Given the description of an element on the screen output the (x, y) to click on. 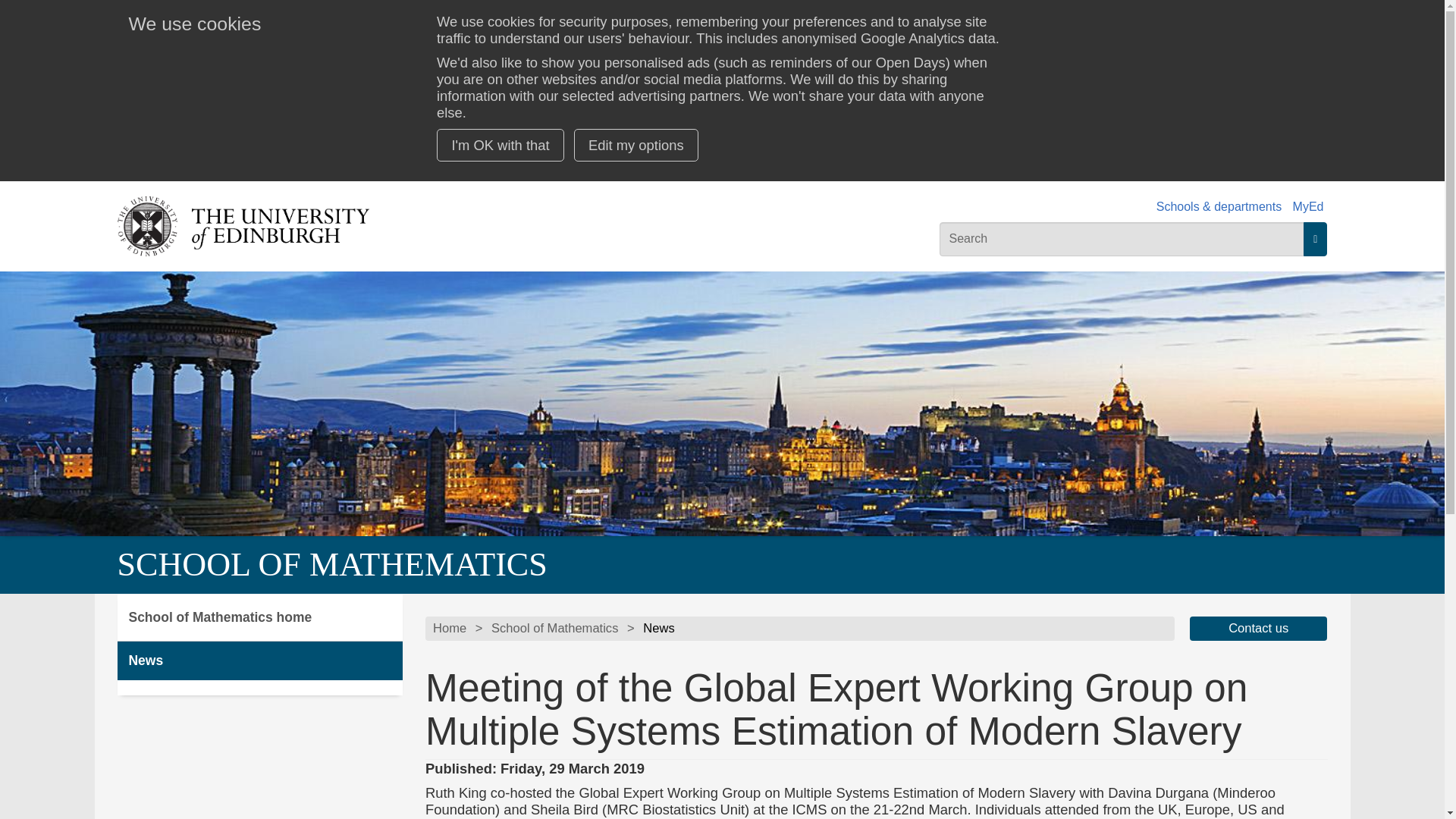
MyEd (1307, 205)
School of Mathematics home (259, 617)
Home (448, 628)
SCHOOL OF MATHEMATICS (331, 564)
Contact us (1258, 628)
News (259, 660)
I'm OK with that (500, 144)
Edit my options (635, 144)
School of Mathematics (554, 628)
